Given the description of an element on the screen output the (x, y) to click on. 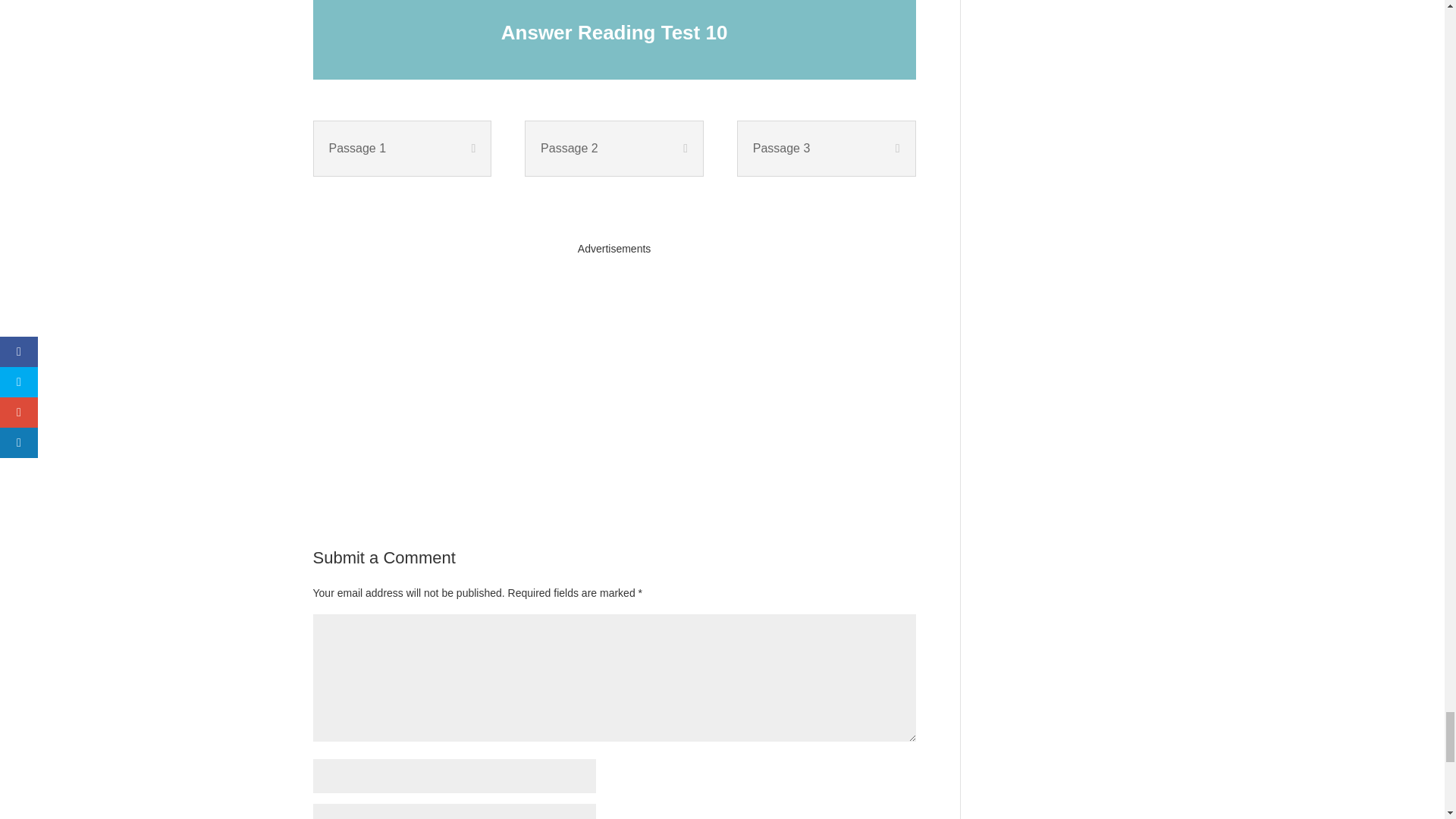
Answer Reading Test 10 (614, 32)
